Given the description of an element on the screen output the (x, y) to click on. 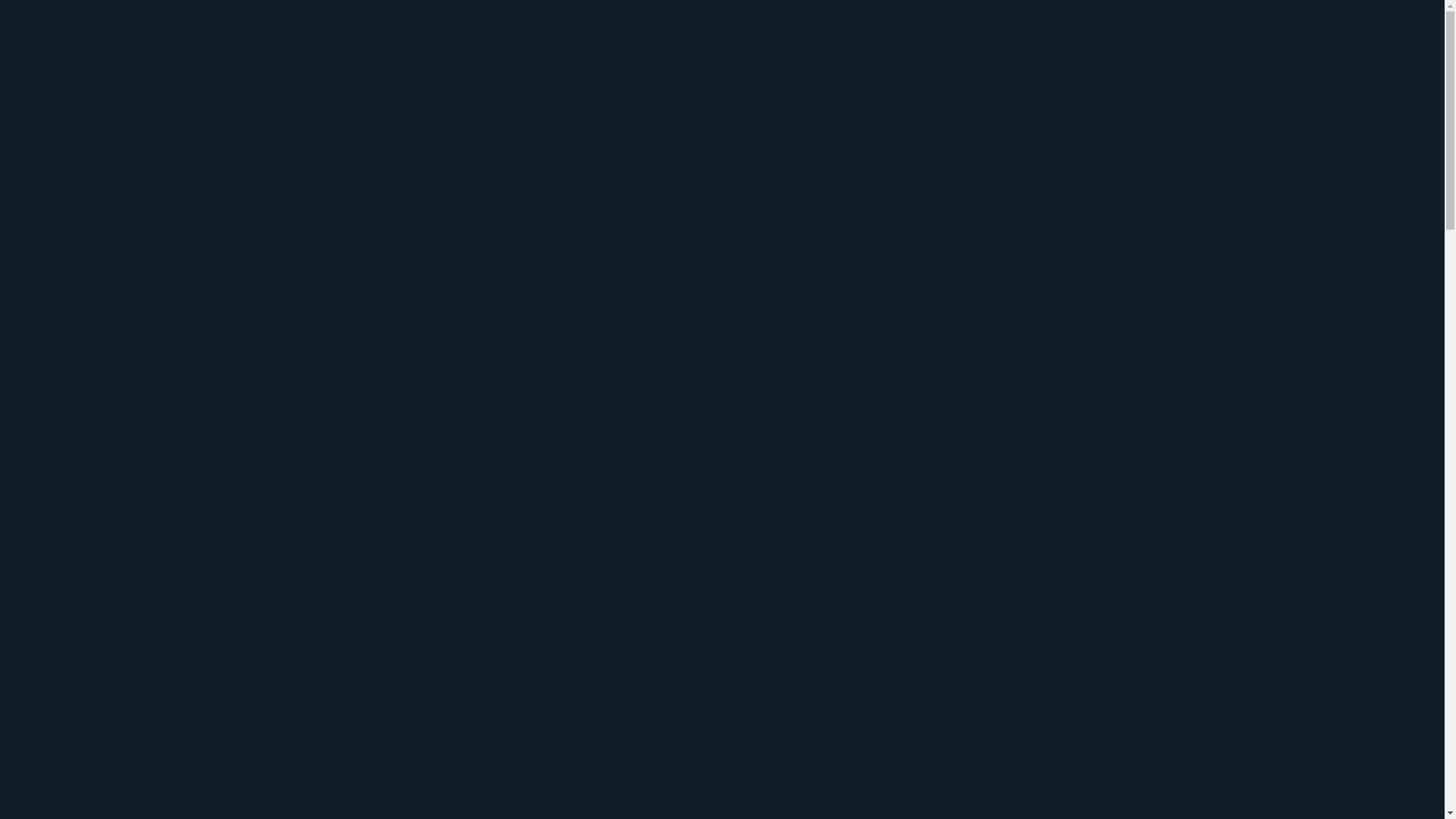
CONTACT Element type: text (1102, 42)
WEBDESIGN Element type: text (695, 42)
ONLINE MARKETING Element type: text (827, 42)
OVER ONS Element type: text (1013, 42)
BLOG Element type: text (937, 42)
INPLANNEN Element type: text (1015, 554)
